Given the description of an element on the screen output the (x, y) to click on. 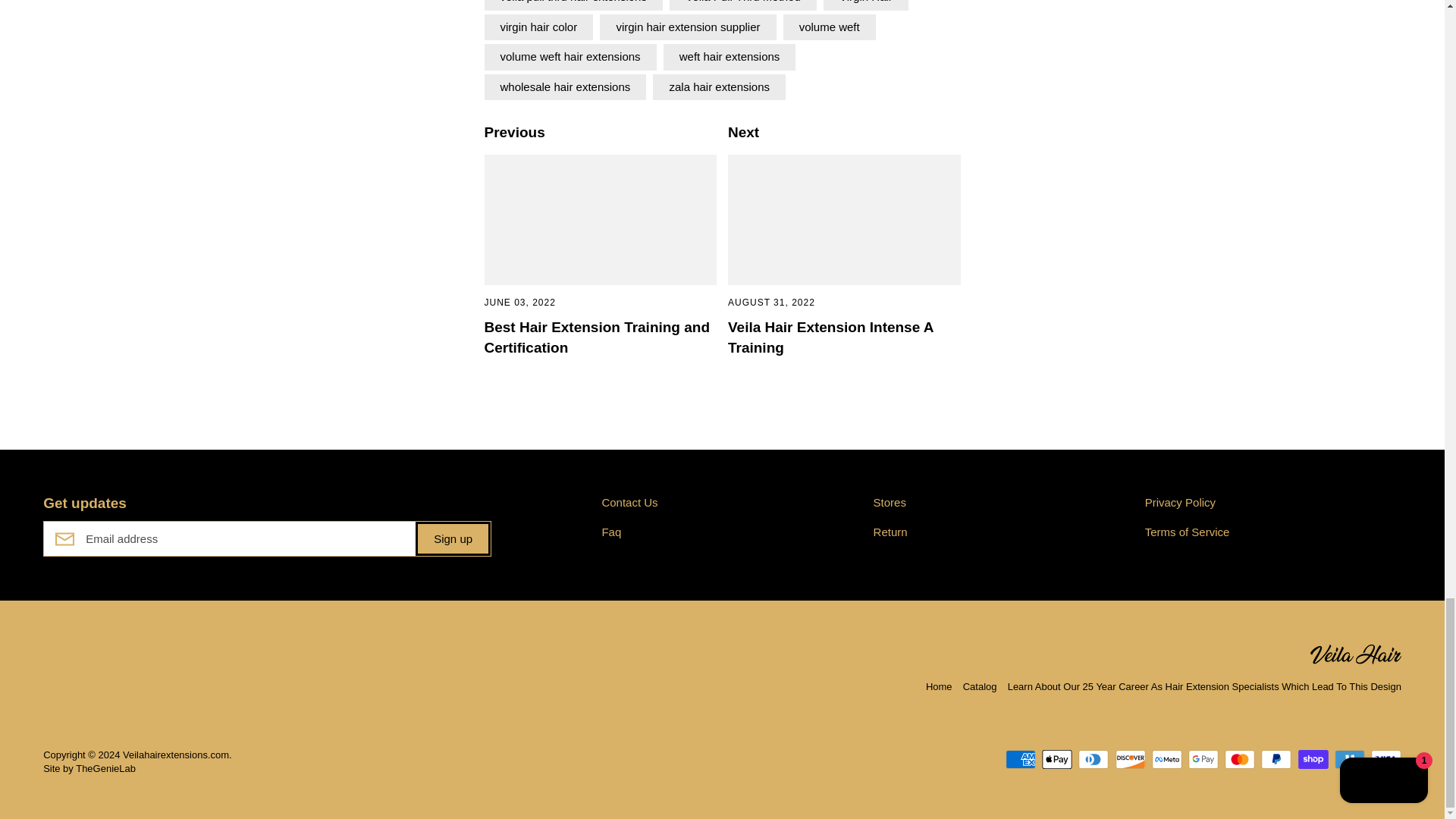
Apple Pay (1056, 759)
PayPal (1275, 759)
Discover (1130, 759)
Mastercard (1239, 759)
Venmo (1350, 759)
Google Pay (1203, 759)
best shopify and ecommerce experts florida (105, 767)
Visa (1385, 759)
American Express (1020, 759)
Diners Club (1093, 759)
Shop Pay (1312, 759)
Meta Pay (1166, 759)
